Given the description of an element on the screen output the (x, y) to click on. 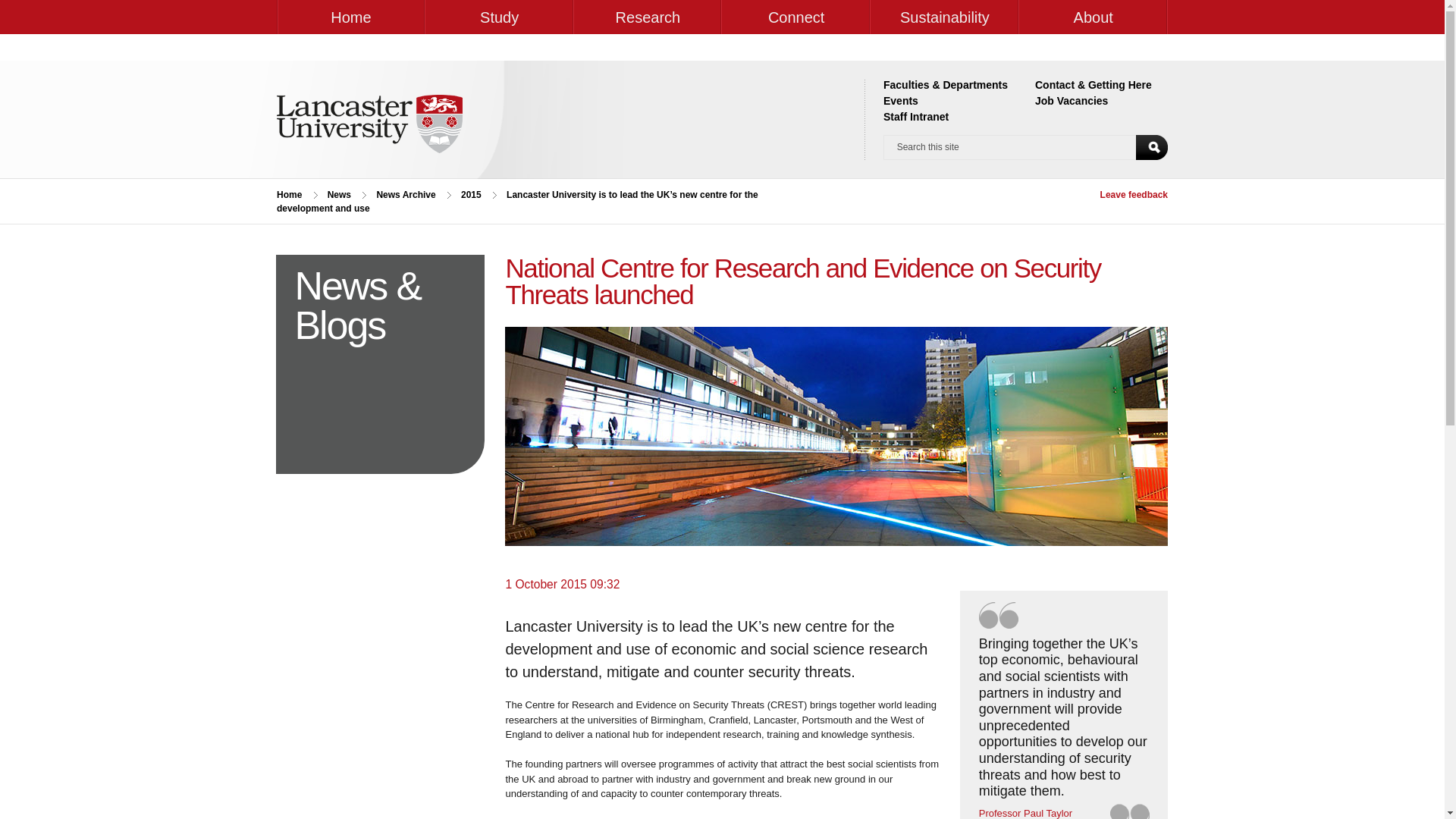
Study (499, 17)
Link: Leave feedback (1133, 194)
Research (648, 17)
Home (350, 17)
Sustainability (944, 17)
Connect (796, 17)
Search this site (1010, 147)
About (1093, 17)
